Given the description of an element on the screen output the (x, y) to click on. 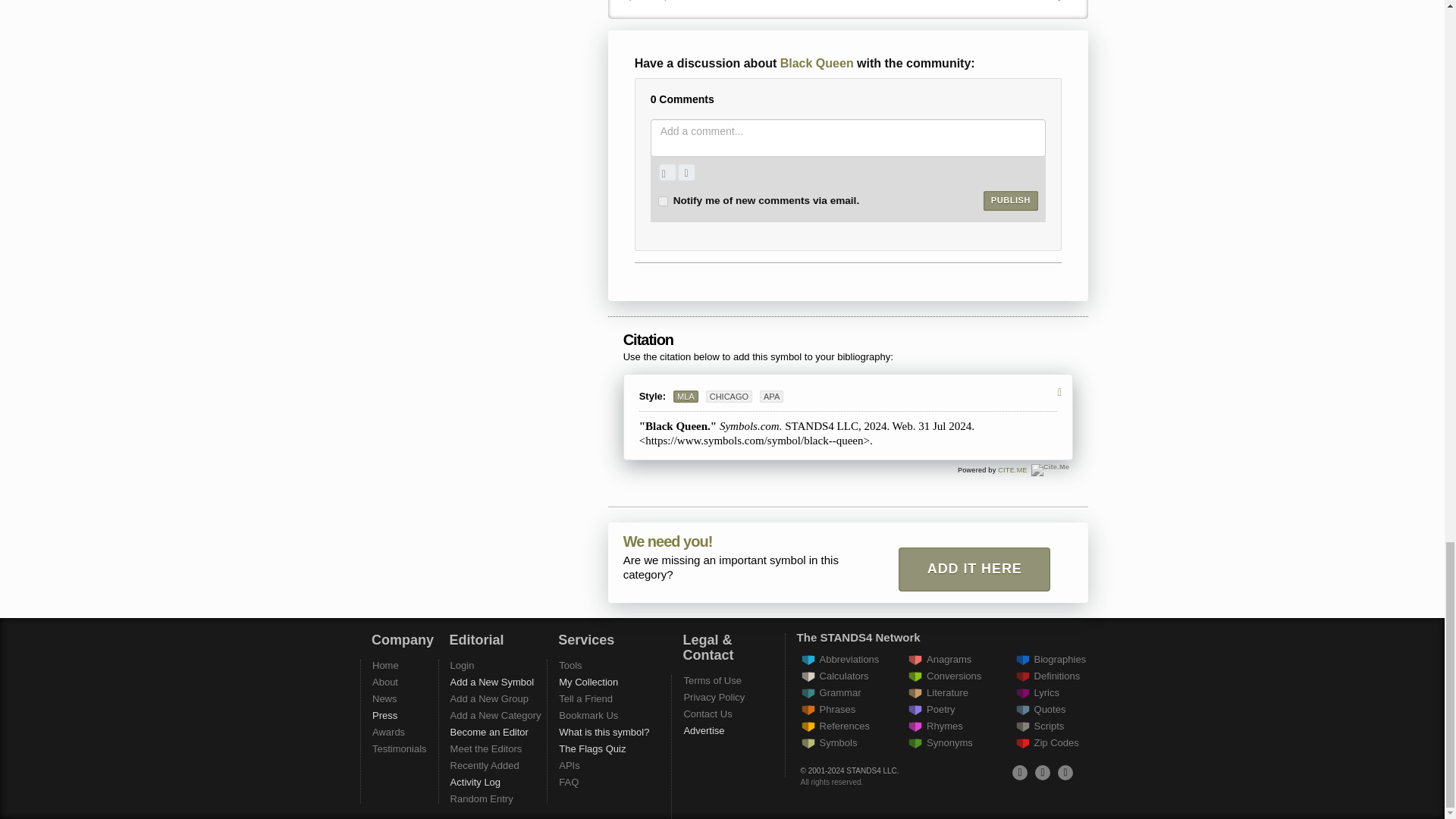
on (663, 201)
